Given the description of an element on the screen output the (x, y) to click on. 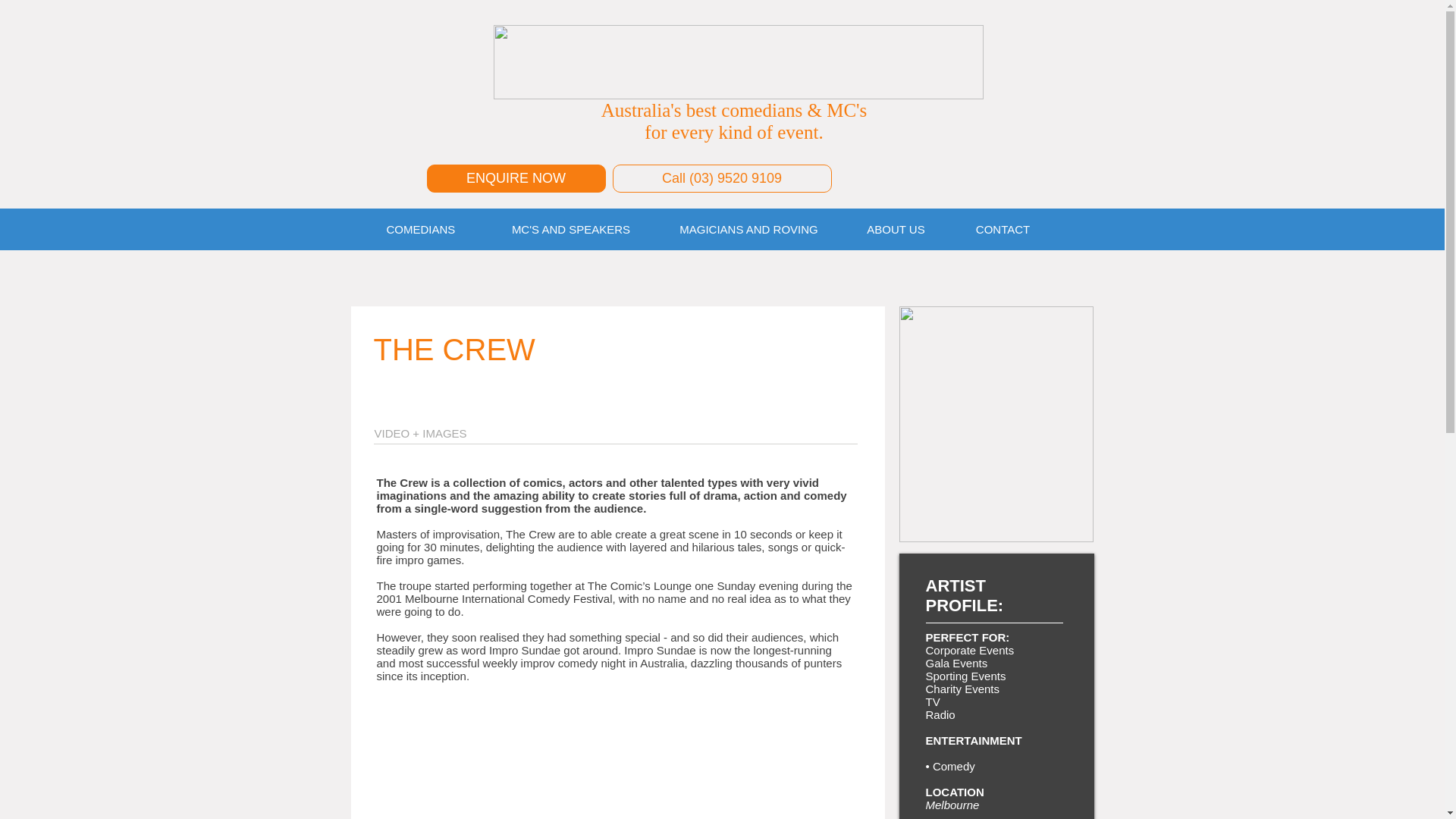
COMEDIANS (432, 228)
MAGICIANS AND ROVING (748, 228)
ENQUIRE NOW (515, 178)
ABOUT US (895, 228)
MC'S AND SPEAKERS (570, 228)
CONTACT (1002, 228)
